Given the description of an element on the screen output the (x, y) to click on. 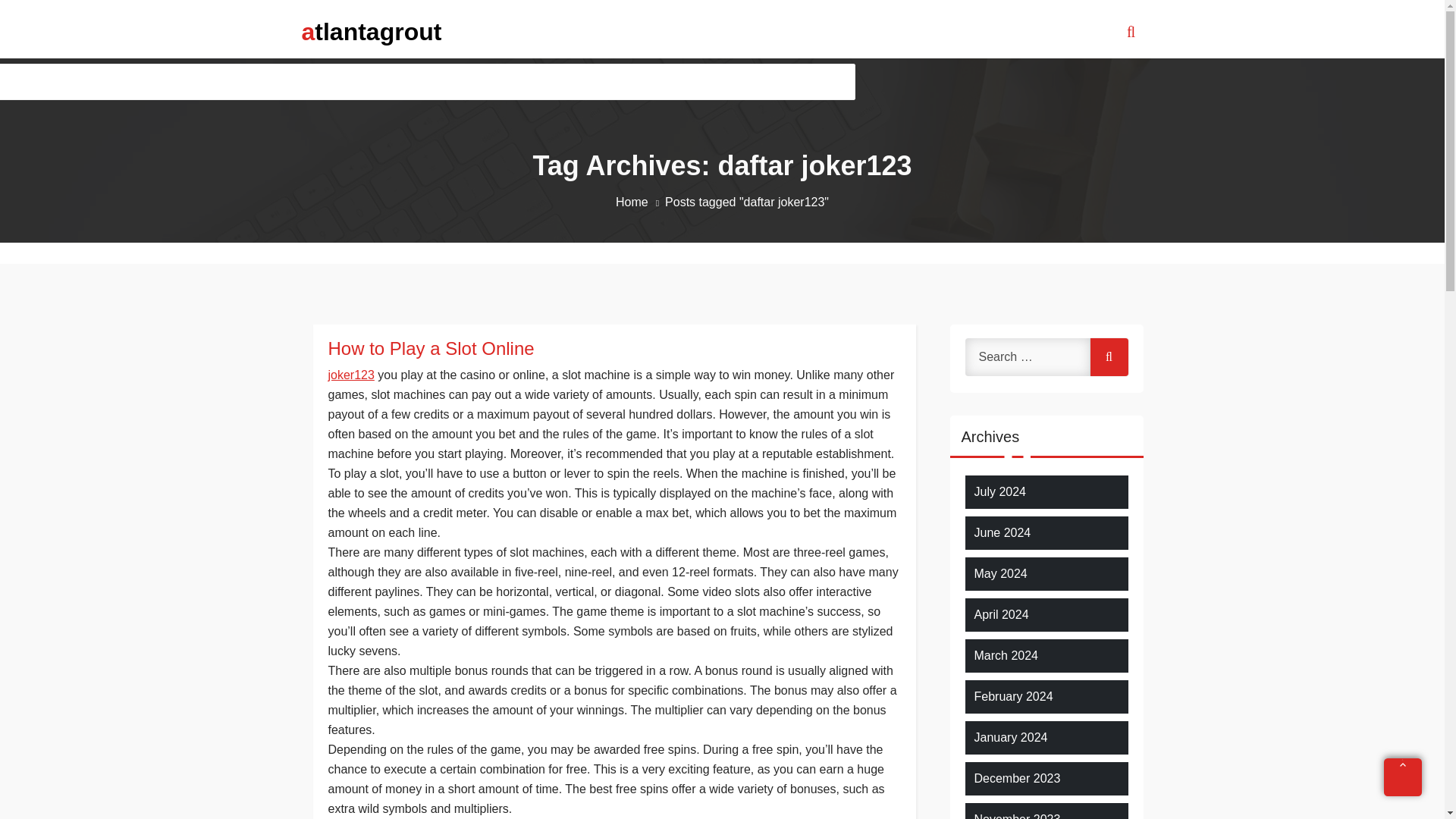
November 2023 (1016, 814)
May 2024 (1000, 574)
June 2024 (1002, 533)
joker123 (350, 374)
January 2024 (1010, 737)
July 2024 (1000, 492)
Home (640, 201)
April 2024 (1000, 615)
How to Play a Slot Online (613, 348)
December 2023 (1016, 778)
March 2024 (1006, 656)
February 2024 (1013, 696)
atlantagrout (371, 31)
